Given the description of an element on the screen output the (x, y) to click on. 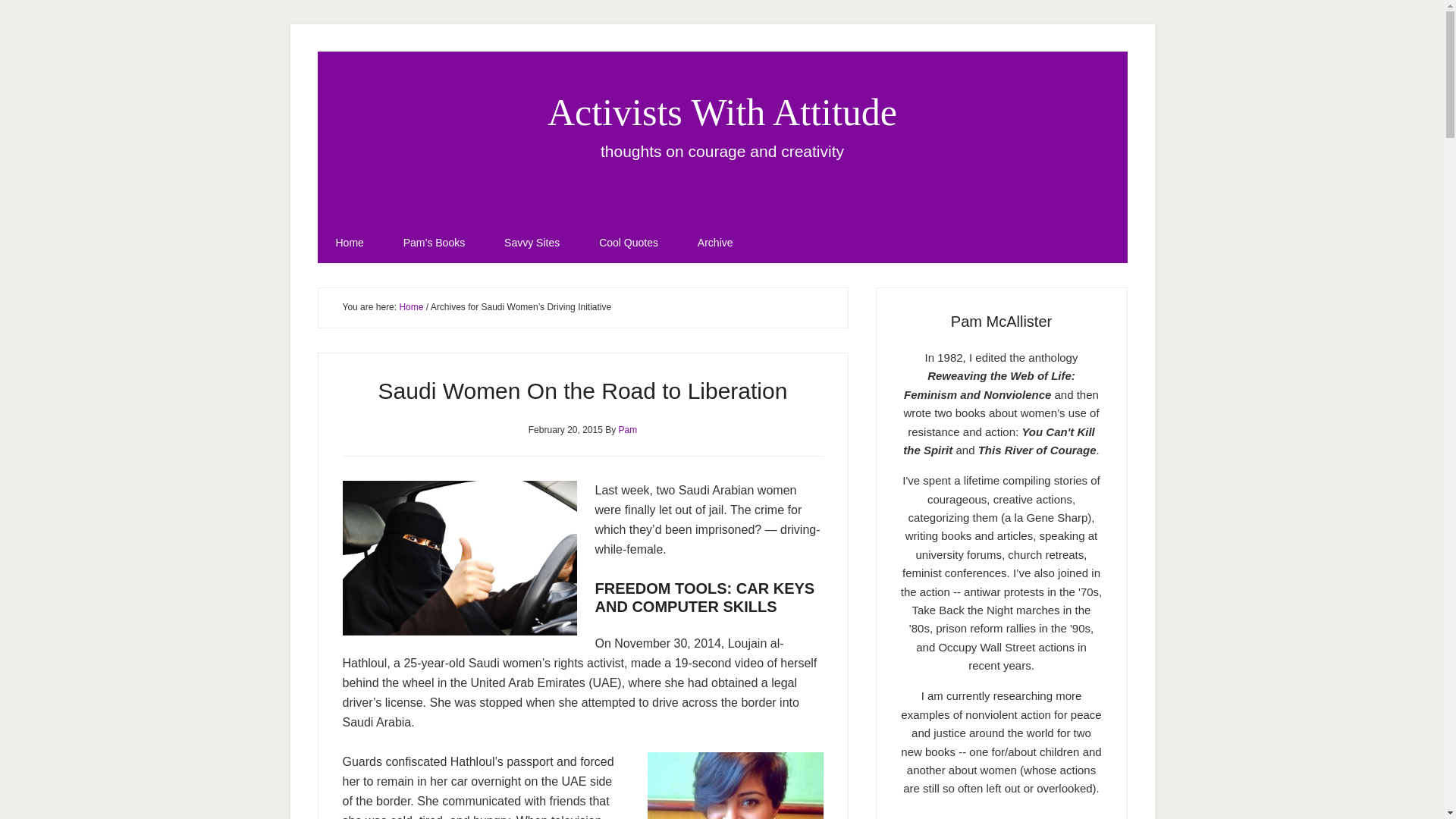
Saudi Women On the Road to Liberation (582, 389)
Home (410, 307)
Home (349, 241)
Cool Quotes (628, 241)
Pam (627, 429)
Activists With Attitude (721, 111)
Savvy Sites (532, 241)
Archive (715, 241)
